Given the description of an element on the screen output the (x, y) to click on. 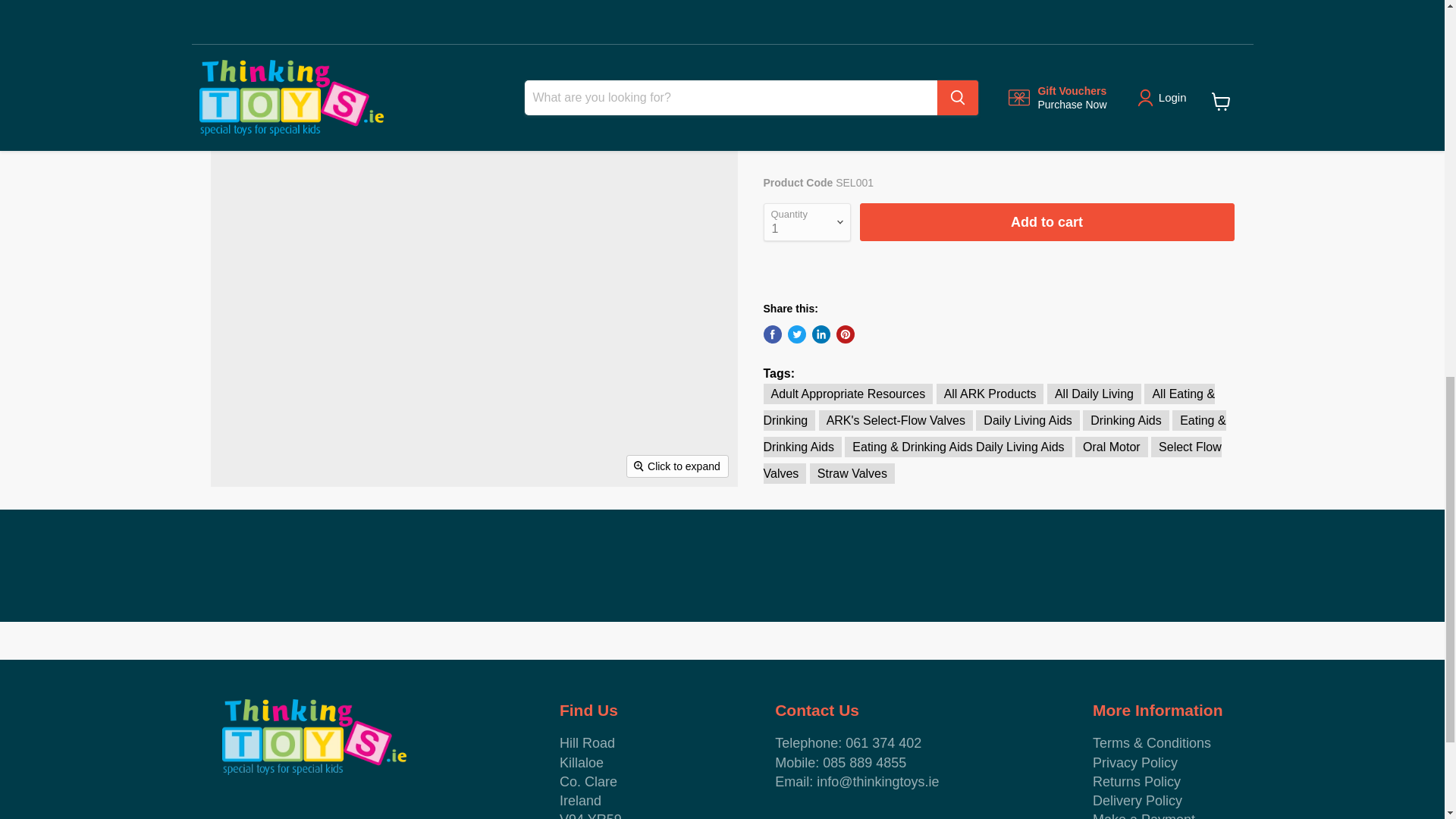
Click to expand (677, 465)
Add to cart (1047, 222)
Tweet on Twitter (796, 334)
Share on LinkedIn (819, 334)
Share on Facebook (771, 334)
Privacy Policy (1135, 762)
085 889 4855 (863, 762)
Pin on Pinterest (844, 334)
061 374 402 (883, 743)
